Given the description of an element on the screen output the (x, y) to click on. 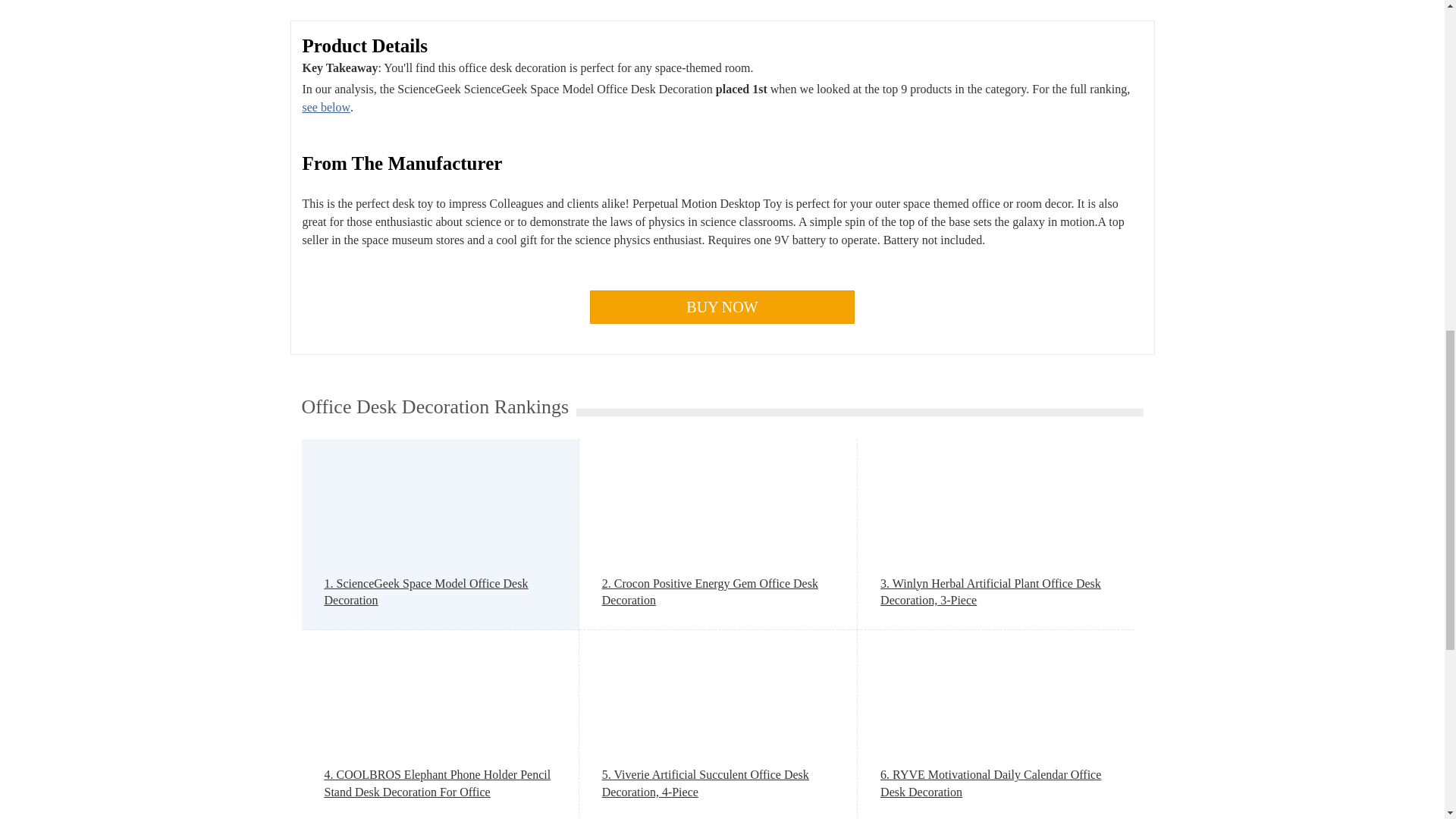
see below (325, 106)
BUY NOW (721, 306)
1. ScienceGeek Space Model Office Desk Decoration (440, 592)
2. Crocon Positive Energy Gem Office Desk Decoration (718, 592)
